Given the description of an element on the screen output the (x, y) to click on. 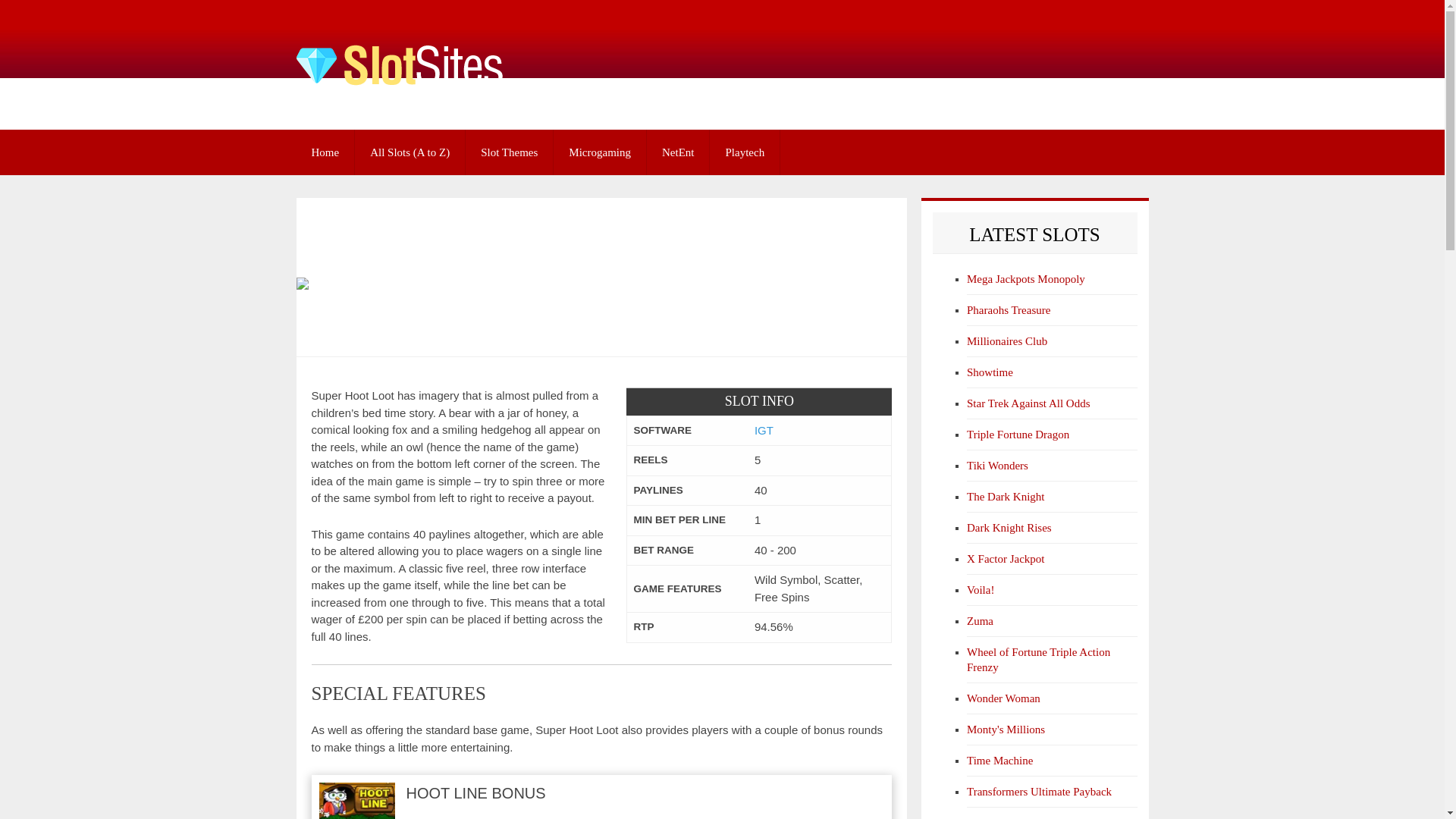
NetEnt (678, 152)
Slot Themes (509, 152)
Playtech (744, 152)
IGT (763, 430)
Microgaming (599, 152)
Home (324, 152)
